Given the description of an element on the screen output the (x, y) to click on. 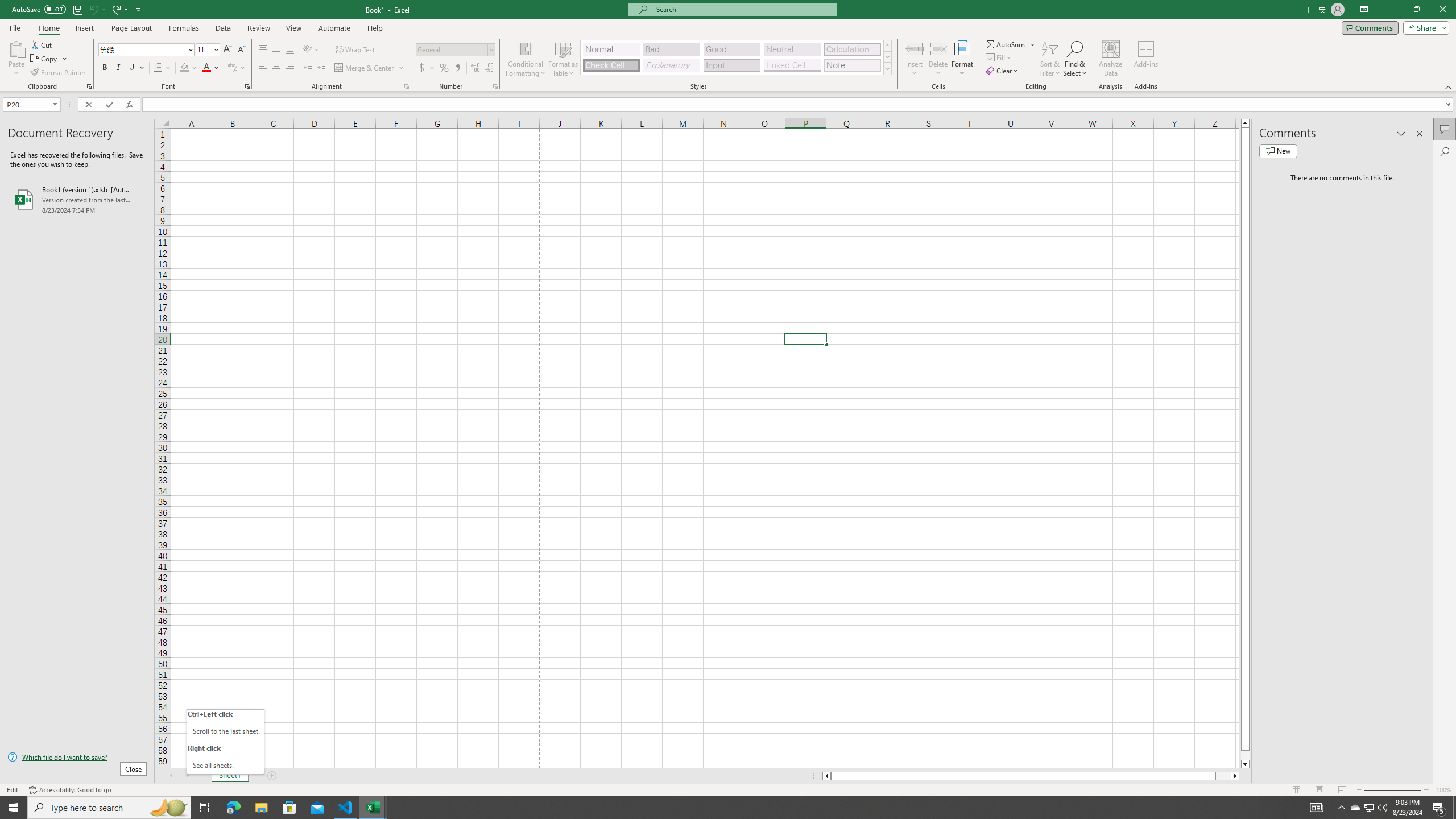
Show Phonetic Field (231, 67)
Insert Cells (914, 48)
Decrease Decimal (489, 67)
Font Size (207, 49)
